Given the description of an element on the screen output the (x, y) to click on. 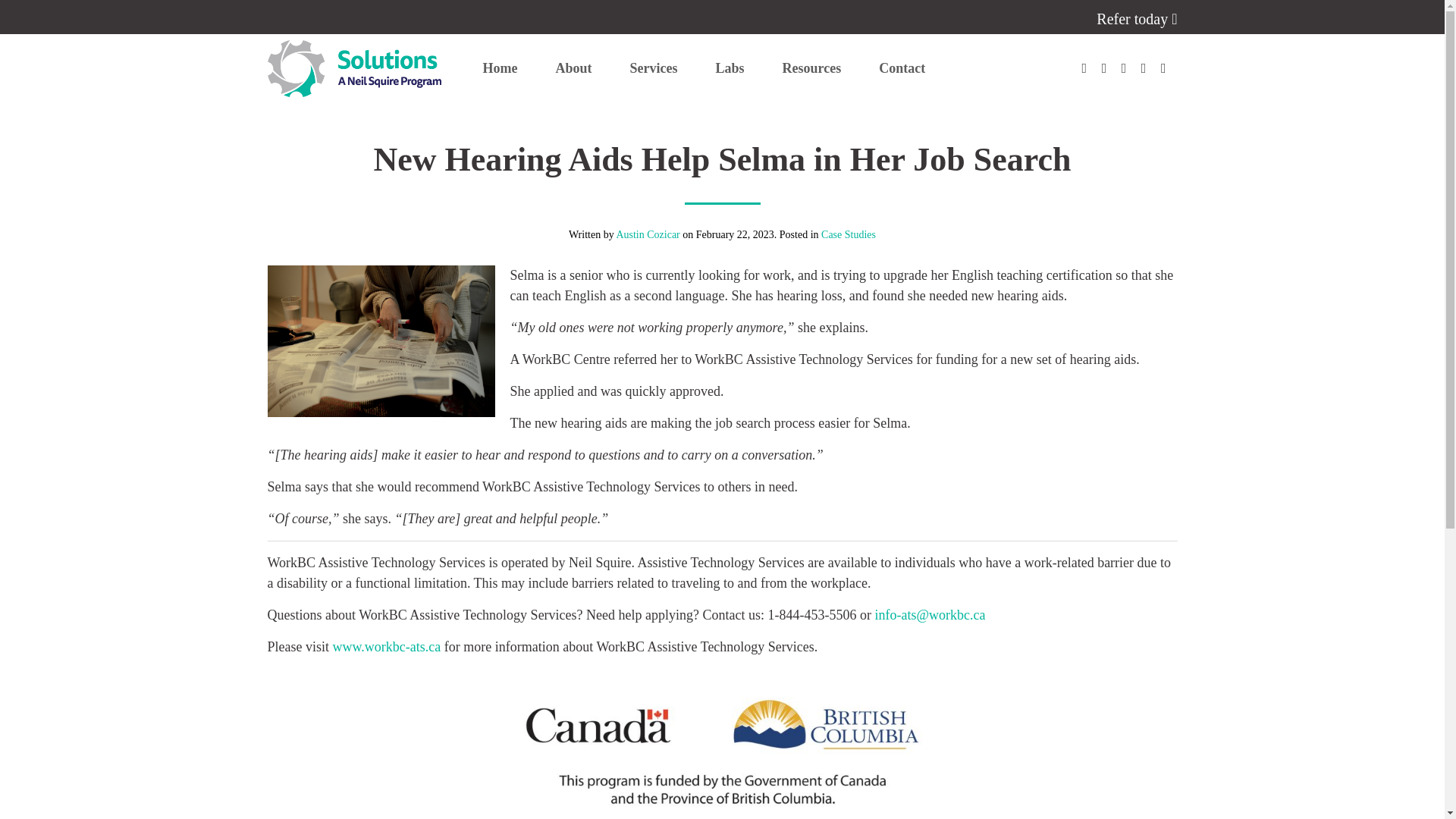
www.workbc-ats.ca (386, 646)
About (572, 68)
Home (500, 68)
Contact (901, 68)
Neil Squire Society Twitter (1104, 68)
Home (500, 68)
Form to refer us (1136, 18)
Contact (901, 68)
Neil Squire Society Facebook (1084, 68)
Services (654, 68)
Neil Squire Society LinkedIn (1123, 68)
Labs (728, 68)
Neil Squire Society YouTube (1144, 68)
Services (654, 68)
